Given the description of an element on the screen output the (x, y) to click on. 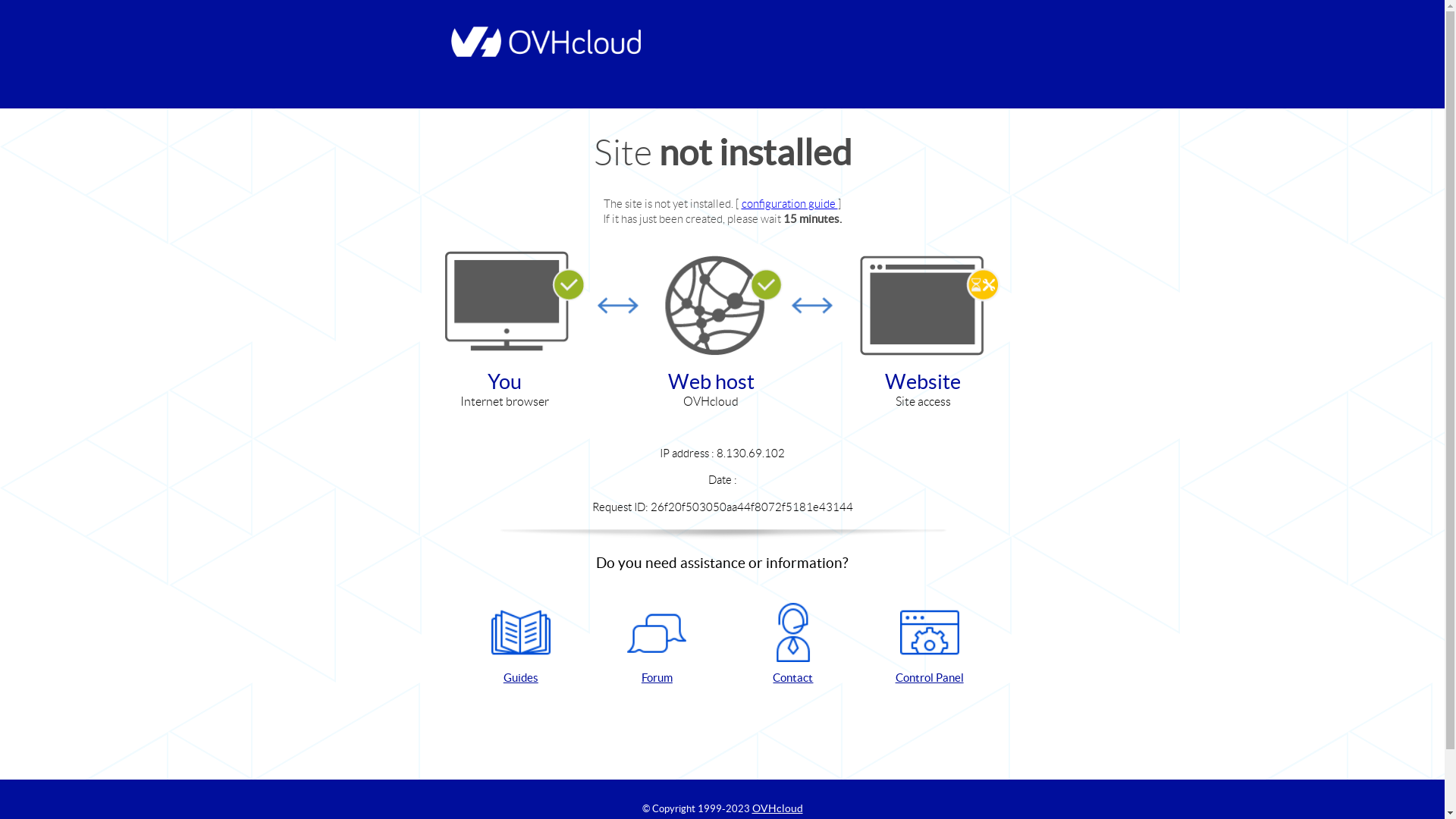
Forum Element type: text (656, 644)
Control Panel Element type: text (929, 644)
OVHcloud Element type: text (777, 808)
Contact Element type: text (792, 644)
configuration guide Element type: text (789, 203)
Guides Element type: text (520, 644)
